Given the description of an element on the screen output the (x, y) to click on. 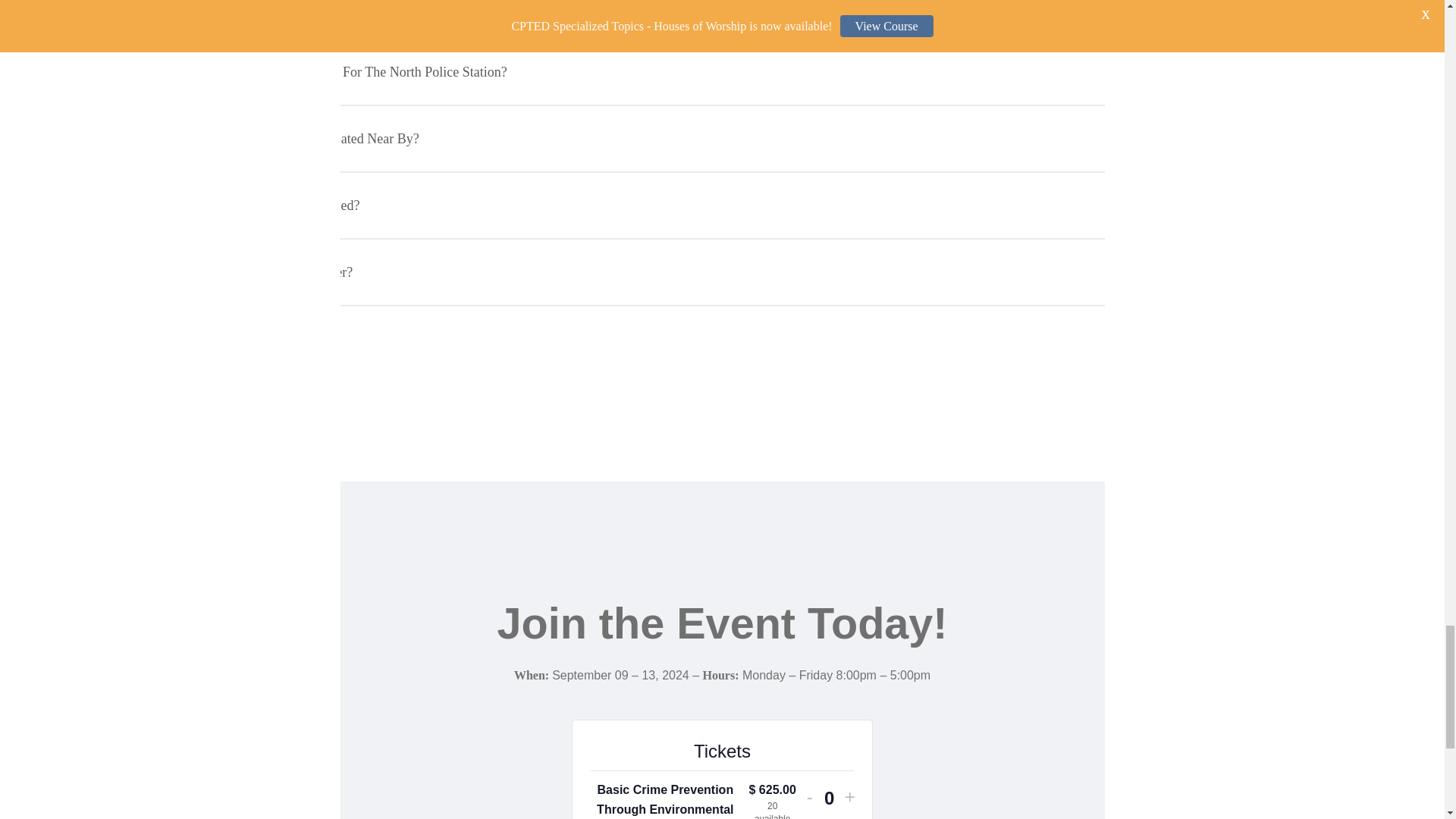
What Is The Address For The North Police Station? (722, 71)
Where Is The Course Located? (722, 18)
What Hotels Are Located Near By? (722, 138)
0 (828, 798)
